Given the description of an element on the screen output the (x, y) to click on. 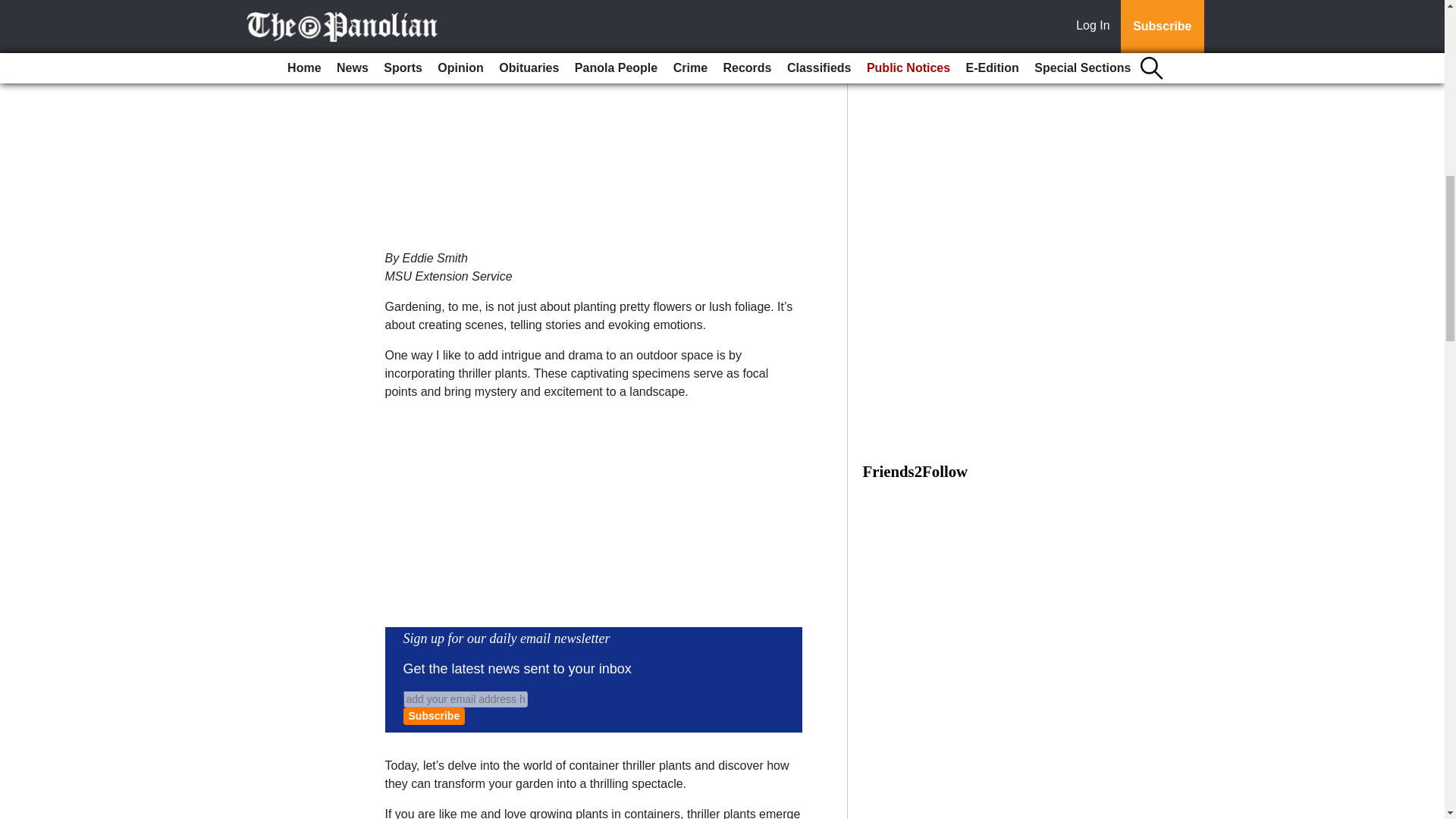
Subscribe (434, 715)
Subscribe (434, 715)
